Given the description of an element on the screen output the (x, y) to click on. 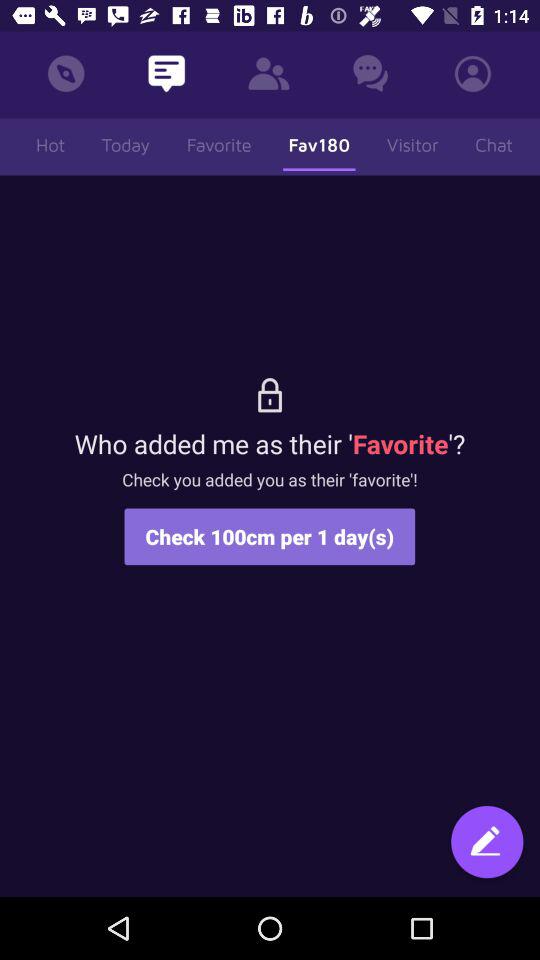
jump until the check 100cm per item (269, 536)
